Given the description of an element on the screen output the (x, y) to click on. 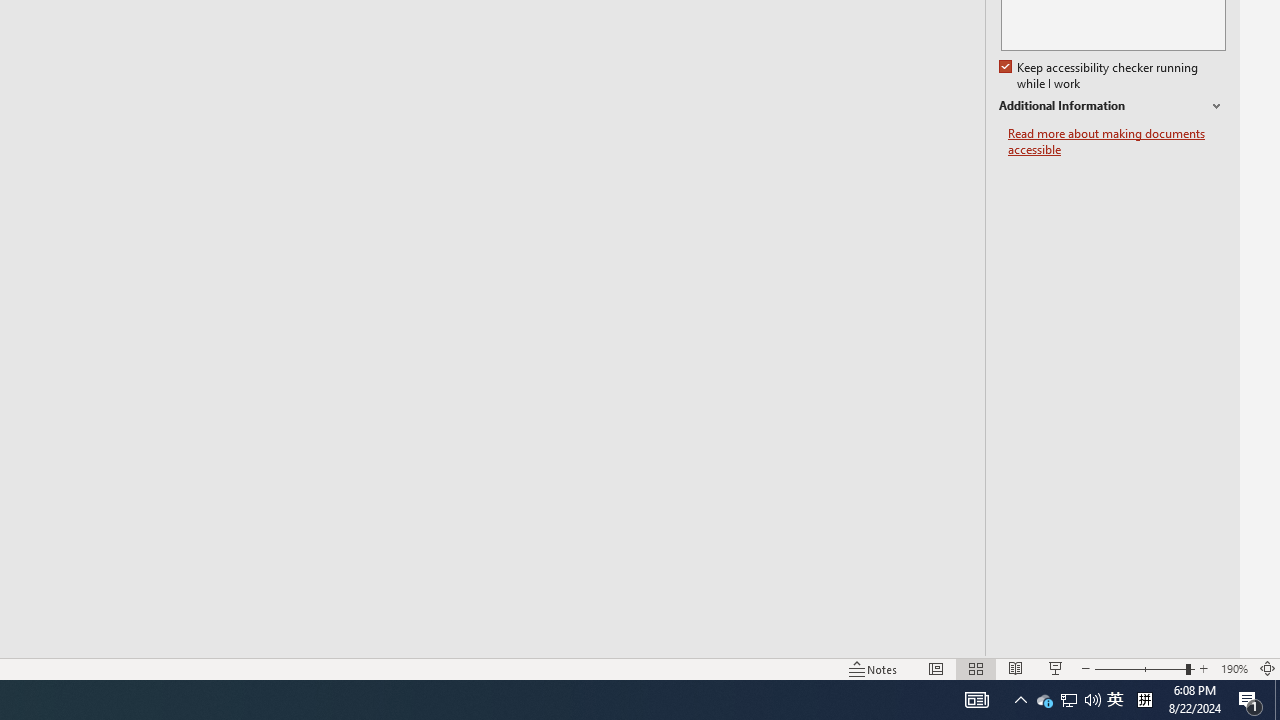
Additional Information (1112, 106)
Read more about making documents accessible (1117, 142)
Zoom 190% (1234, 668)
Keep accessibility checker running while I work (1099, 76)
